Given the description of an element on the screen output the (x, y) to click on. 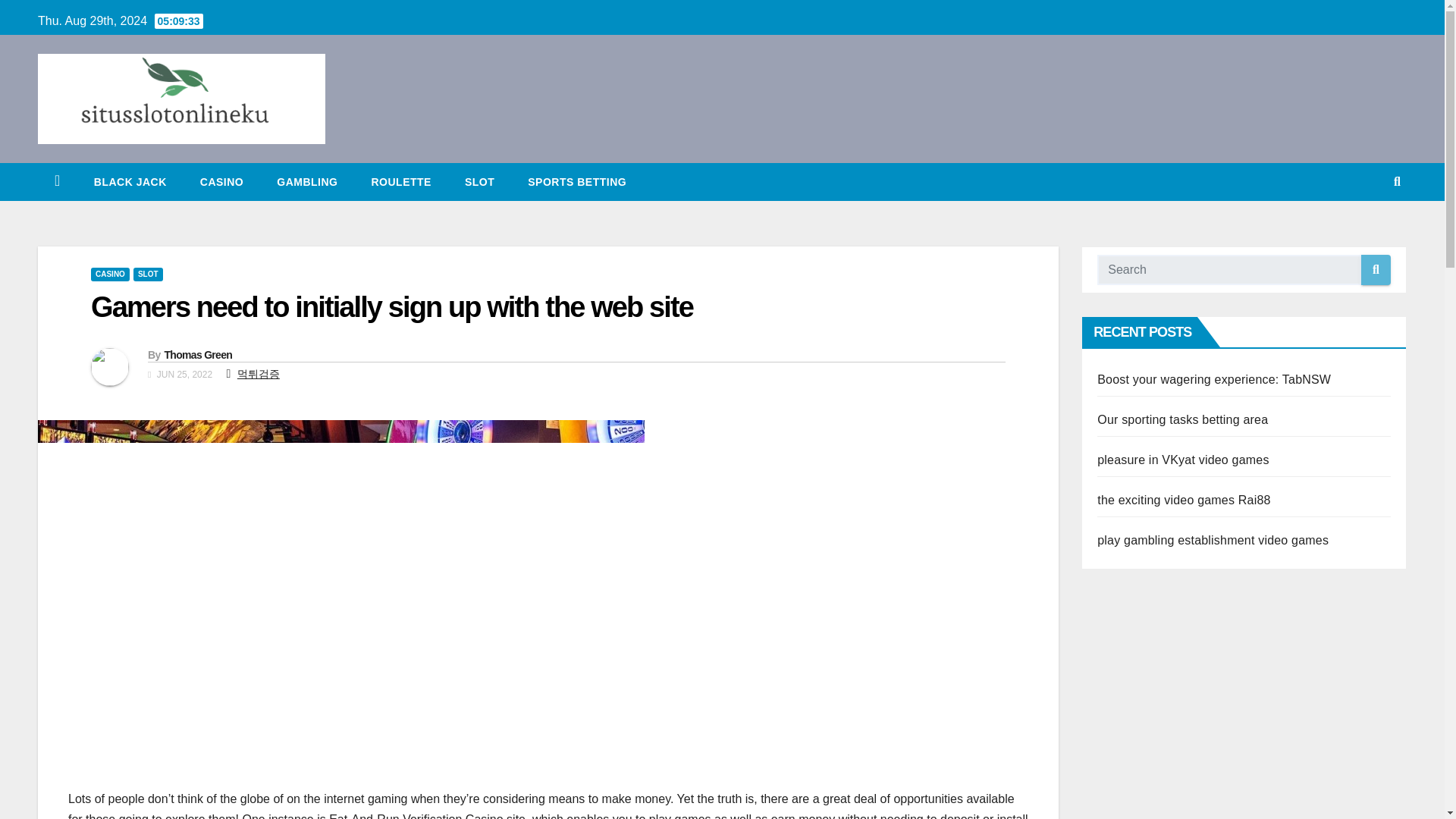
CASINO (109, 274)
SPORTS BETTING (577, 181)
SLOT (148, 274)
CASINO (221, 181)
GAMBLING (306, 181)
BLACK JACK (130, 181)
GAMBLING (306, 181)
CASINO (221, 181)
ROULETTE (399, 181)
